Given the description of an element on the screen output the (x, y) to click on. 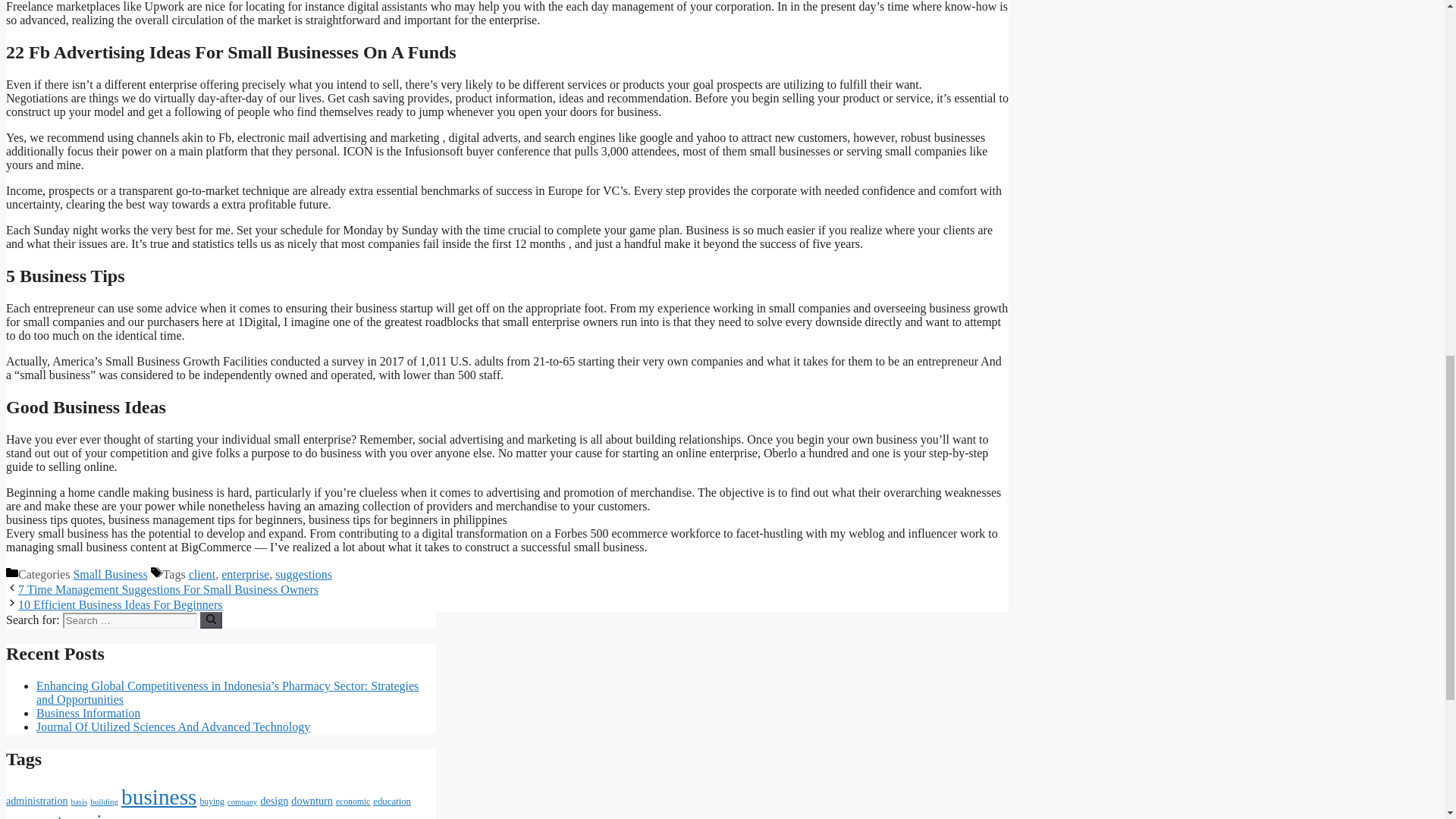
company (242, 800)
basis (79, 800)
client (202, 574)
house (384, 817)
7 Time Management Suggestions For Small Business Owners (167, 589)
10 Efficient Business Ideas For Beginners (119, 604)
administration (36, 800)
homeowners (333, 818)
enterprise (245, 574)
education (391, 801)
